Given the description of an element on the screen output the (x, y) to click on. 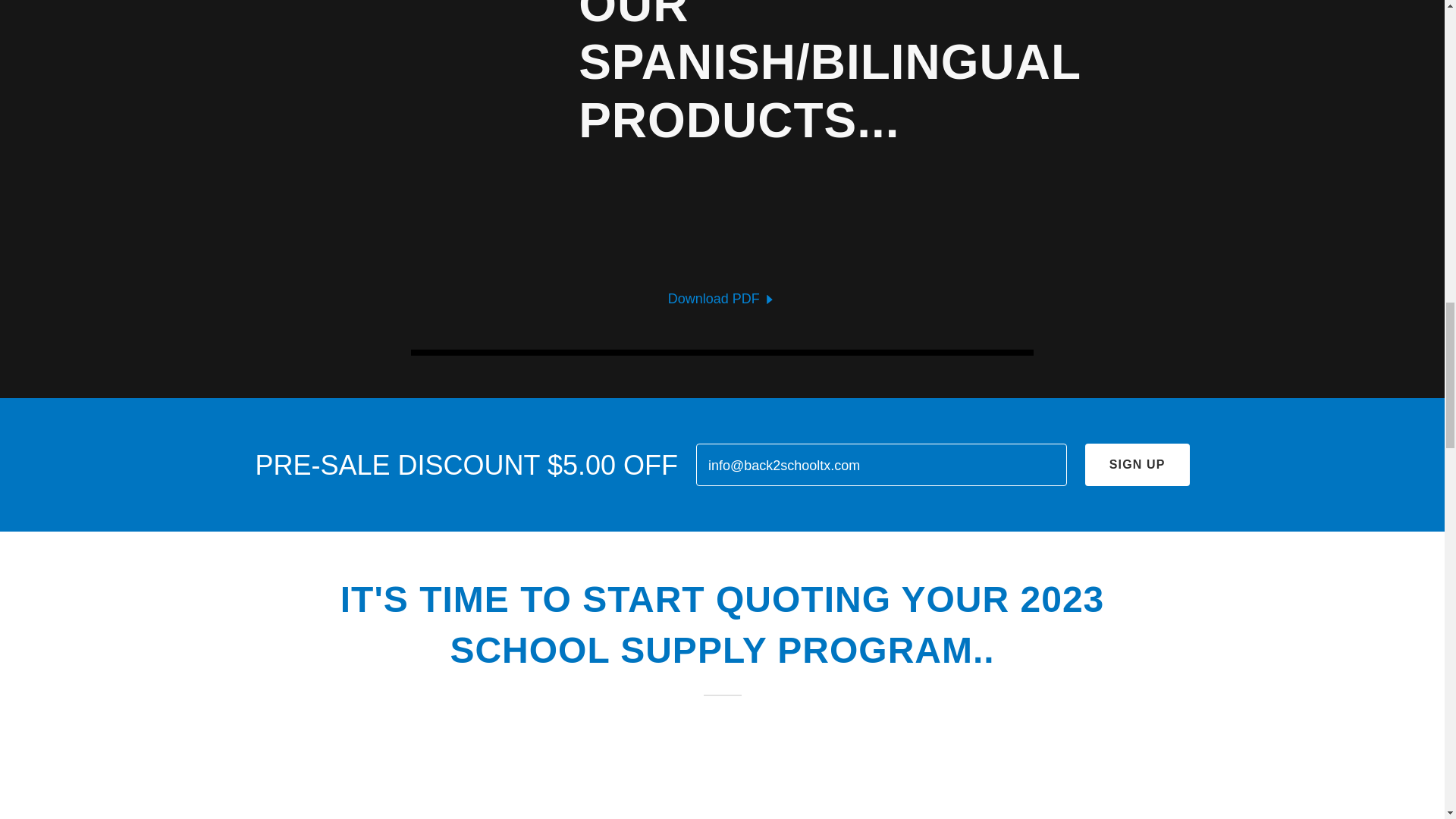
SIGN UP (1136, 464)
Download PDF (722, 299)
